Given the description of an element on the screen output the (x, y) to click on. 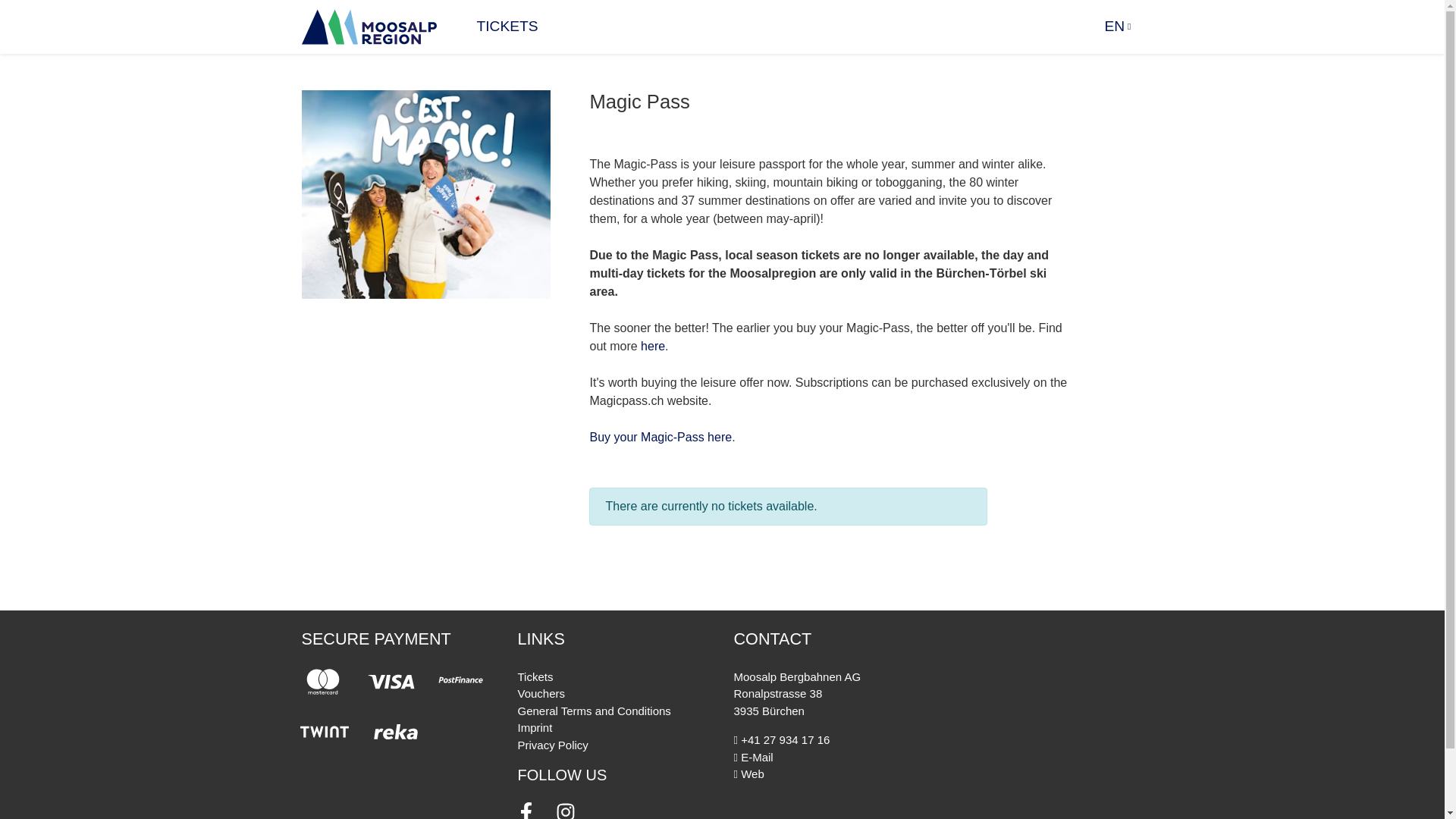
E-Mail (753, 757)
TICKETS (507, 26)
EN (1117, 26)
General Terms and Conditions (592, 710)
Web (748, 773)
Vouchers (540, 693)
Imprint (533, 727)
Tickets (534, 676)
Facebook (525, 807)
Buy your Magic-Pass here (660, 436)
here (652, 345)
Instagram (564, 807)
Privacy Policy (552, 744)
